Given the description of an element on the screen output the (x, y) to click on. 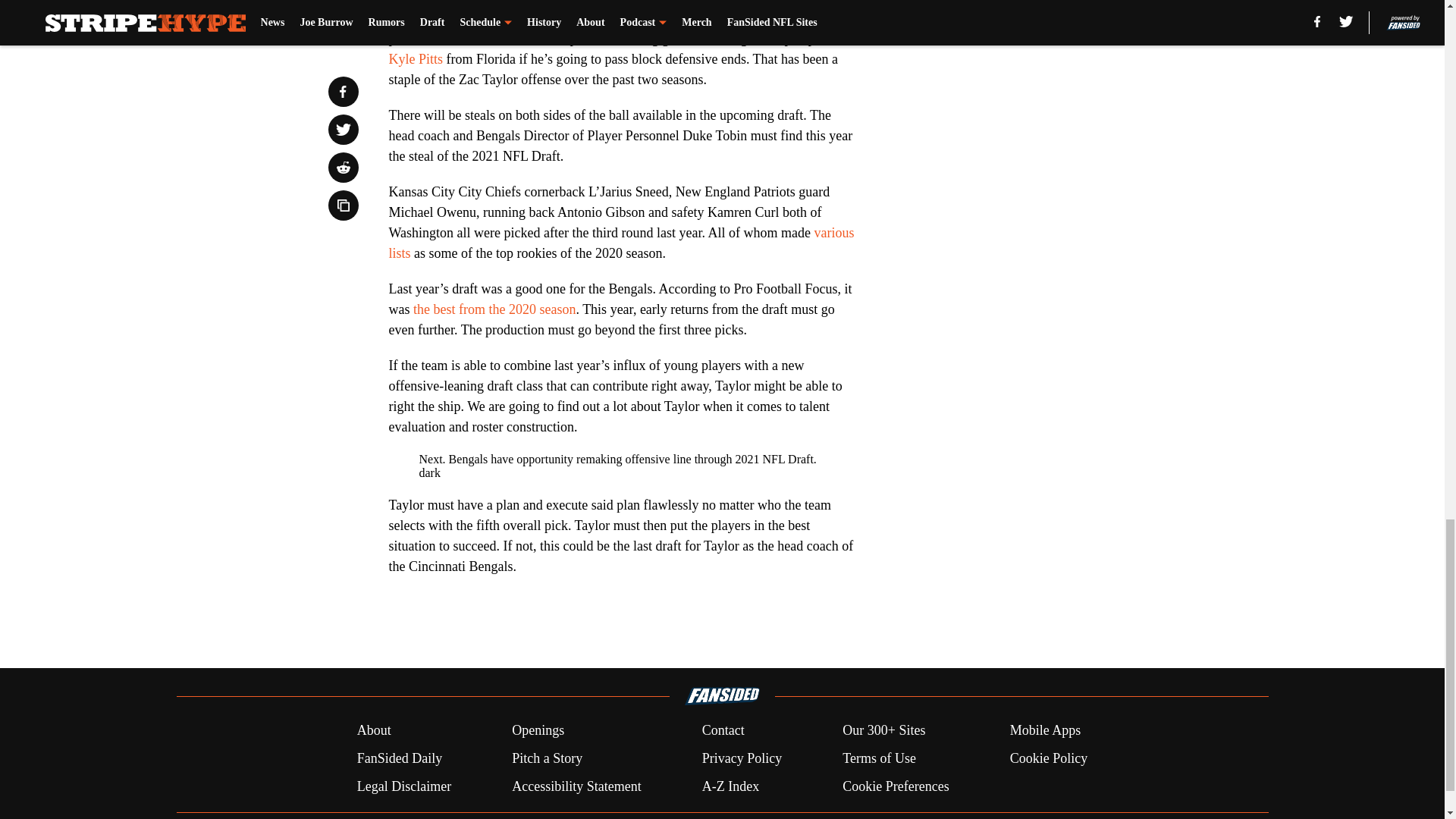
Kyle Pitts (415, 58)
About (373, 730)
Pitch a Story (547, 758)
Privacy Policy (742, 758)
the best from the 2020 season (494, 309)
Contact (722, 730)
Mobile Apps (1045, 730)
Terms of Use (879, 758)
FanSided Daily (399, 758)
Cookie Policy (1048, 758)
